Given the description of an element on the screen output the (x, y) to click on. 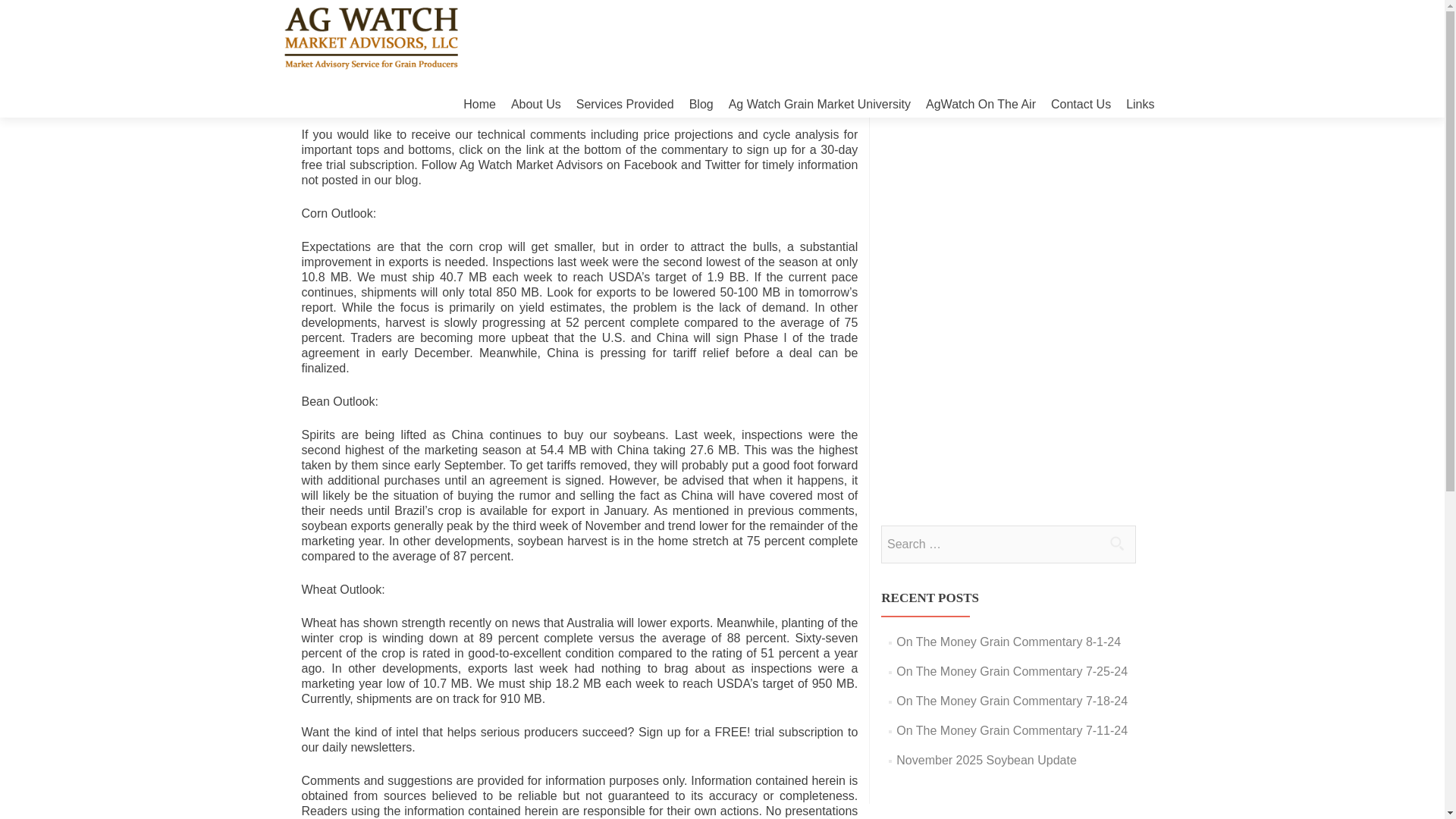
Services Provided (625, 103)
Search (1116, 542)
AgWatch On The Air (980, 103)
Contact Us (1080, 103)
Links (1139, 103)
Search (1116, 542)
Dewey Strickler (520, 105)
Home (479, 103)
Blog (700, 103)
About Us (535, 103)
